Given the description of an element on the screen output the (x, y) to click on. 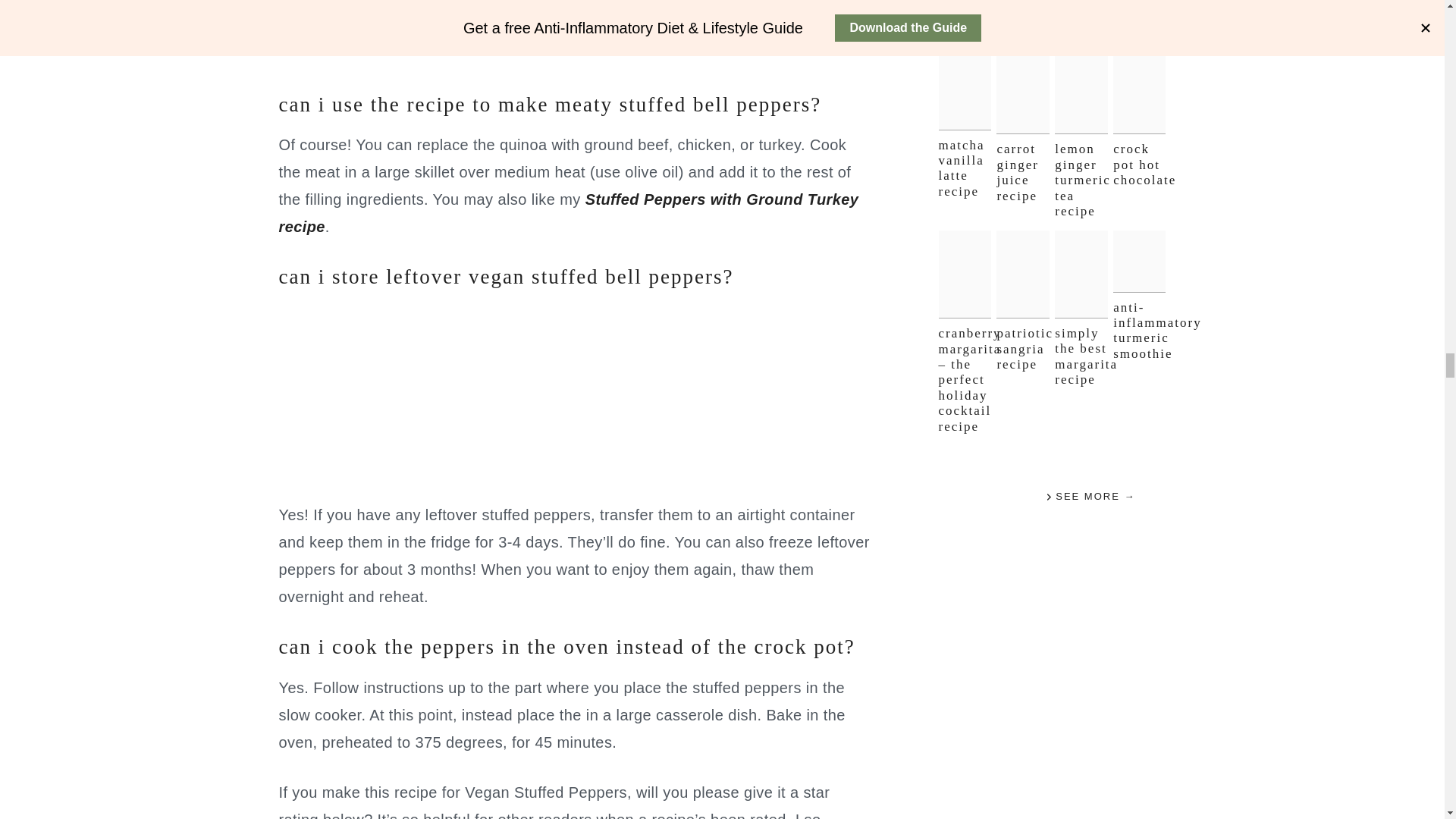
Stuffed Peppers with Ground Turkey recipe (569, 212)
